Given the description of an element on the screen output the (x, y) to click on. 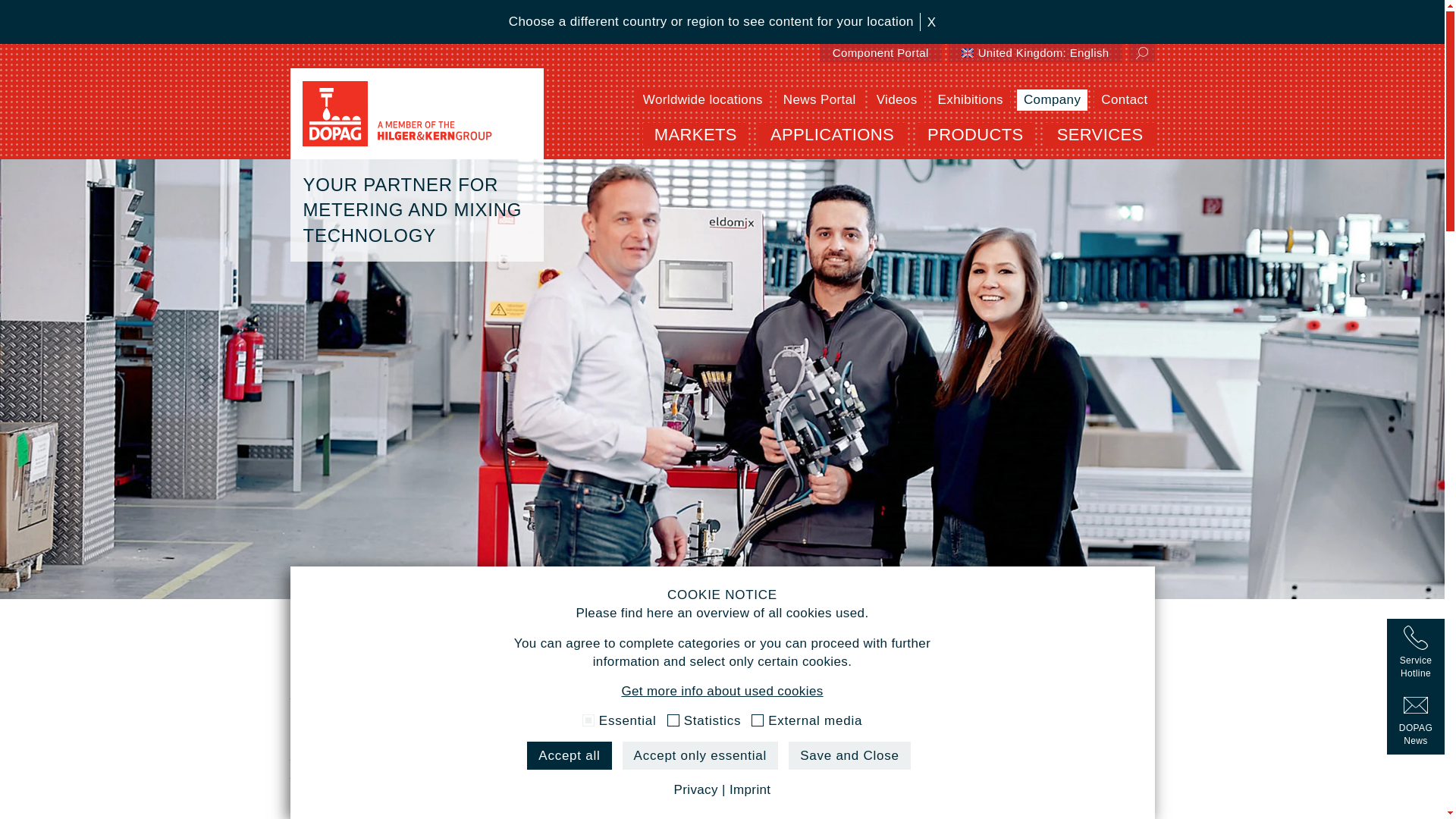
Worldwide locations (703, 99)
Videos (896, 99)
Company (1051, 99)
News Portal (819, 99)
Component Portal (880, 53)
Exhibitions (970, 99)
Contact (1124, 99)
YOUR PARTNER FOR METERING AND MIXING TECHNOLOGY (416, 112)
Component Portal (880, 53)
MARKETS (695, 140)
News Portal - All about metering and mixing technology (819, 99)
Sales, Services, Subsidiaries (703, 99)
